Given the description of an element on the screen output the (x, y) to click on. 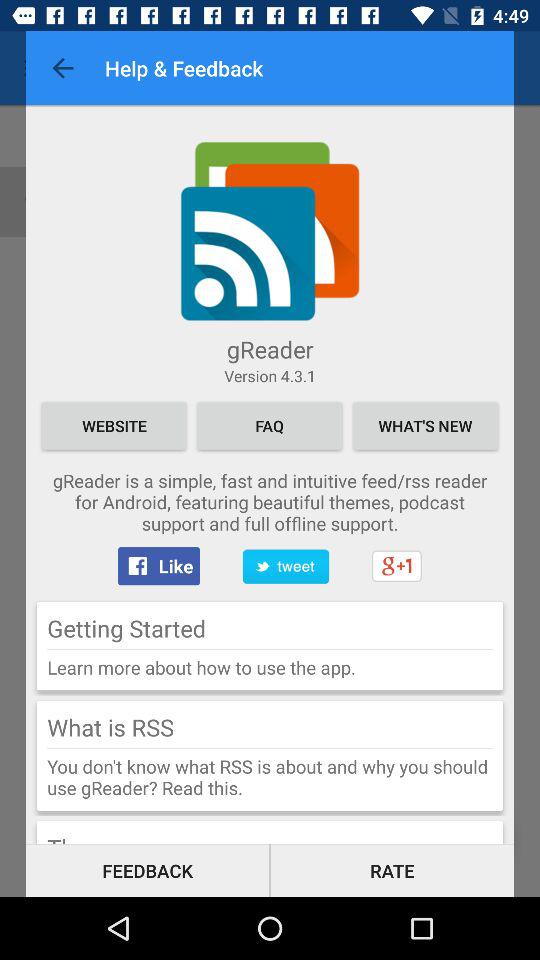
click the item below getting started (269, 649)
